Given the description of an element on the screen output the (x, y) to click on. 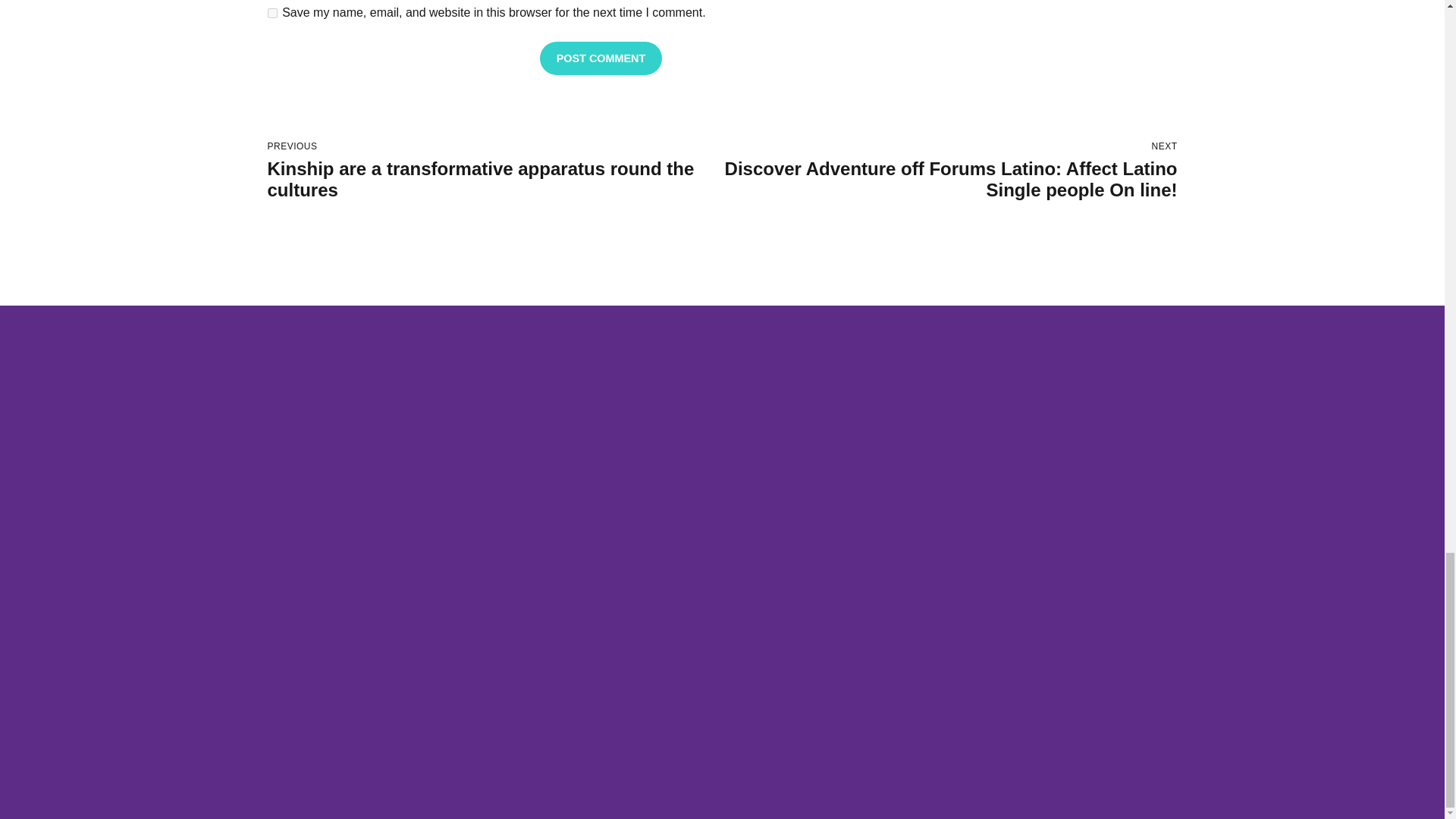
yes (271, 13)
POST COMMENT (601, 57)
